Given the description of an element on the screen output the (x, y) to click on. 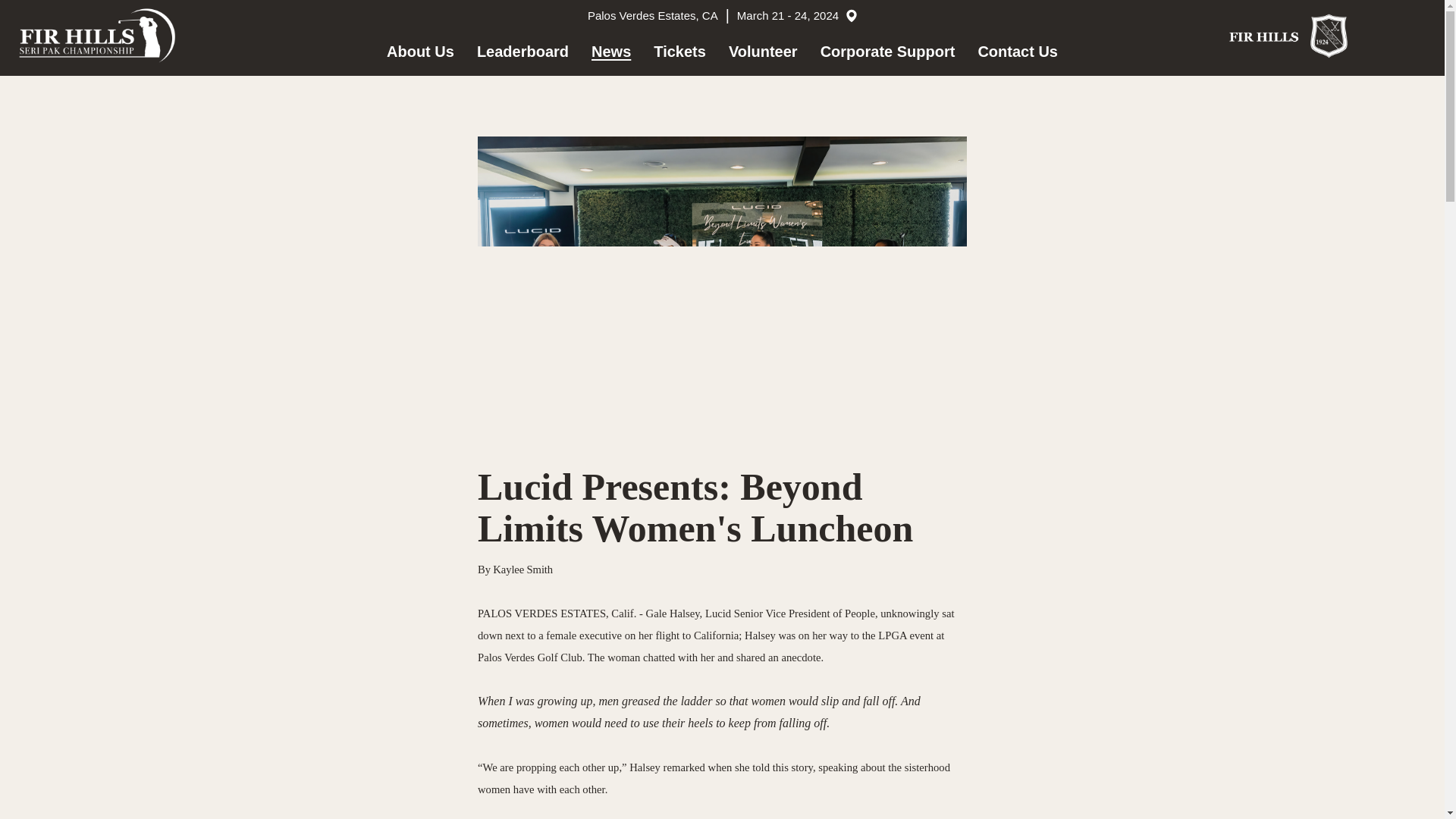
Volunteer (763, 51)
About Us (420, 51)
golf club on Google Maps (850, 15)
Tickets (679, 51)
Contact Us (1017, 51)
Corporate Support (888, 51)
News (610, 51)
Leaderboard (523, 51)
